Given the description of an element on the screen output the (x, y) to click on. 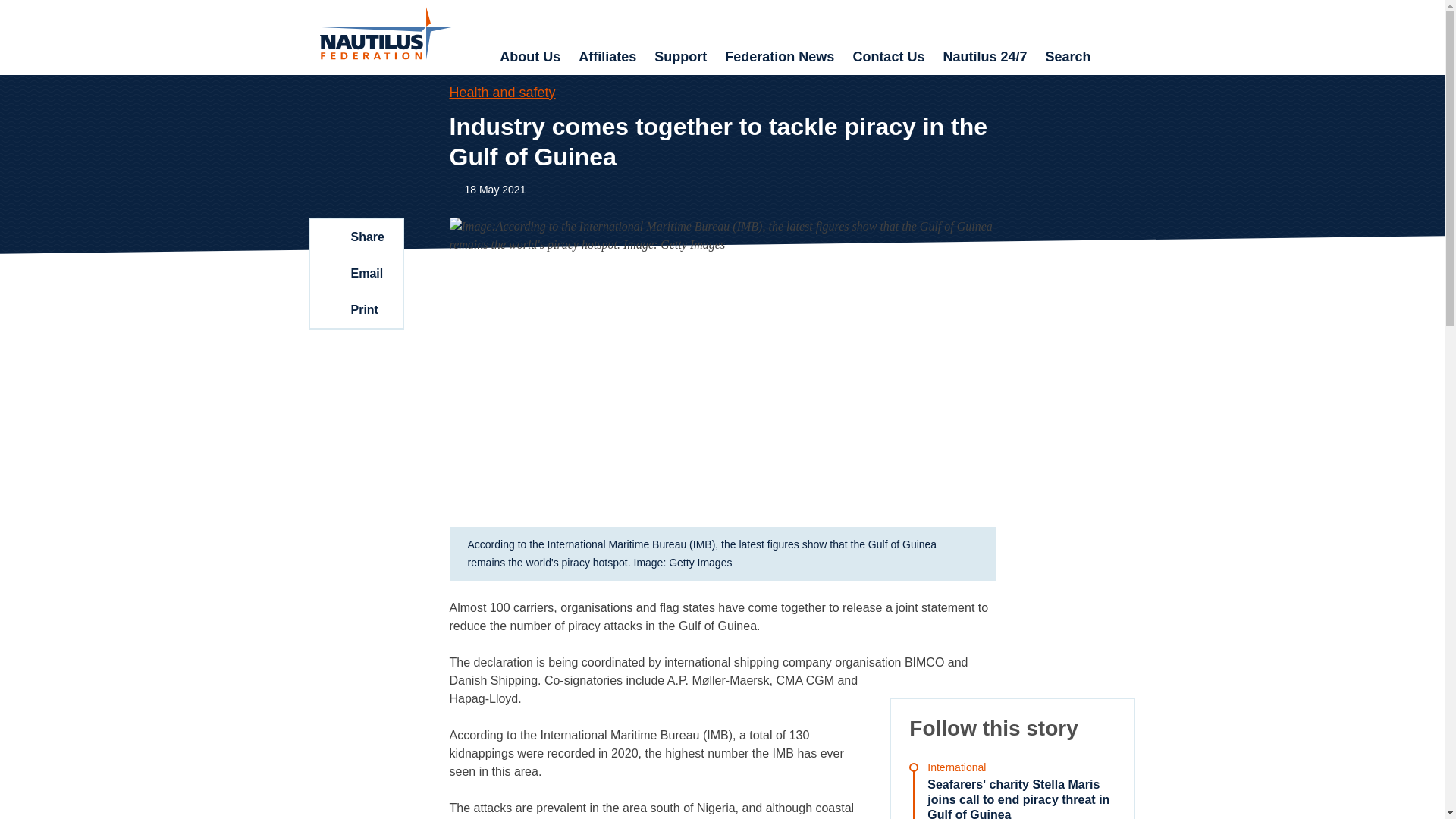
Affiliates (607, 57)
Support (680, 57)
Federation News (779, 57)
Contact Us (888, 57)
Email (354, 273)
joint statement (934, 607)
About Us (529, 57)
Print (354, 309)
Search (1067, 57)
Piracy statement (934, 607)
Health and safety (501, 92)
Share (354, 237)
